Given the description of an element on the screen output the (x, y) to click on. 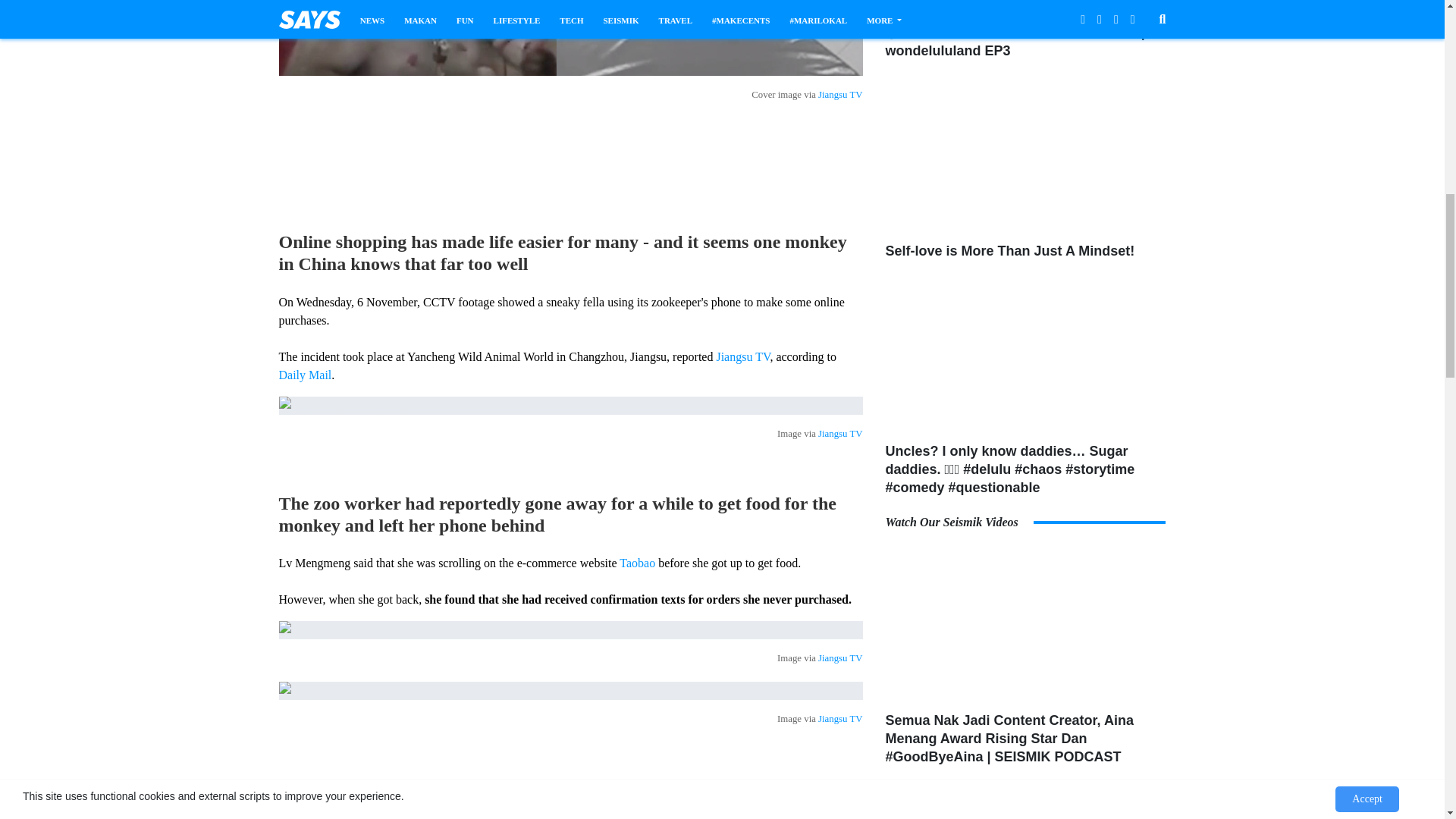
Image from Jiangsu TV (571, 629)
Self-love is More Than Just A Mindset! (1025, 156)
Image from Jiangsu TV (571, 690)
Image from Jiangsu TV (571, 405)
